Given the description of an element on the screen output the (x, y) to click on. 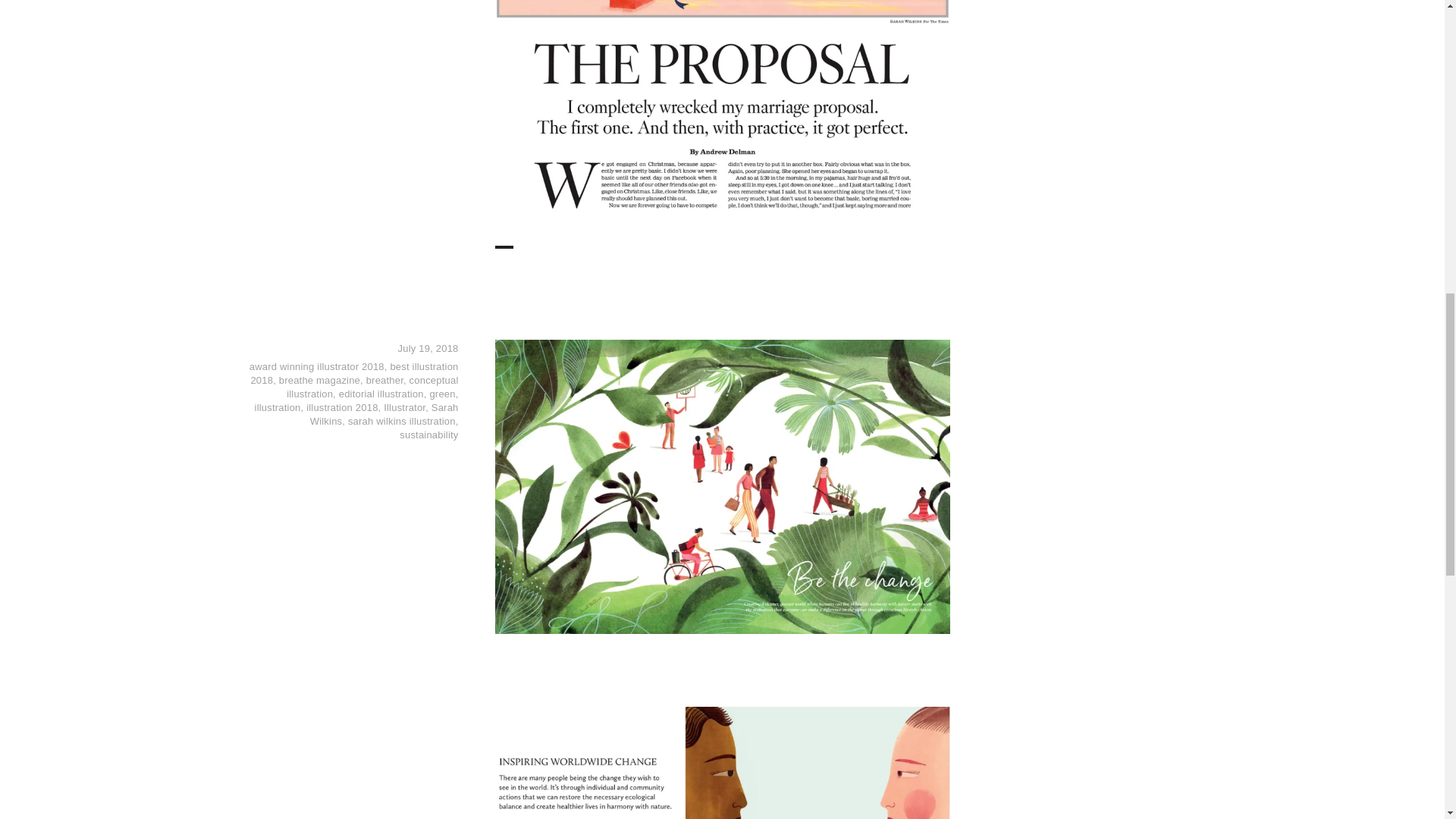
Illustrator (404, 407)
editorial illustration (381, 393)
best illustration 2018 (354, 373)
illustration 2018 (341, 407)
illustration (277, 407)
green (441, 393)
Sarah Wilkins (384, 414)
Change for the Better (651, 303)
award winning illustrator 2018 (316, 366)
conceptual illustration (372, 386)
